Given the description of an element on the screen output the (x, y) to click on. 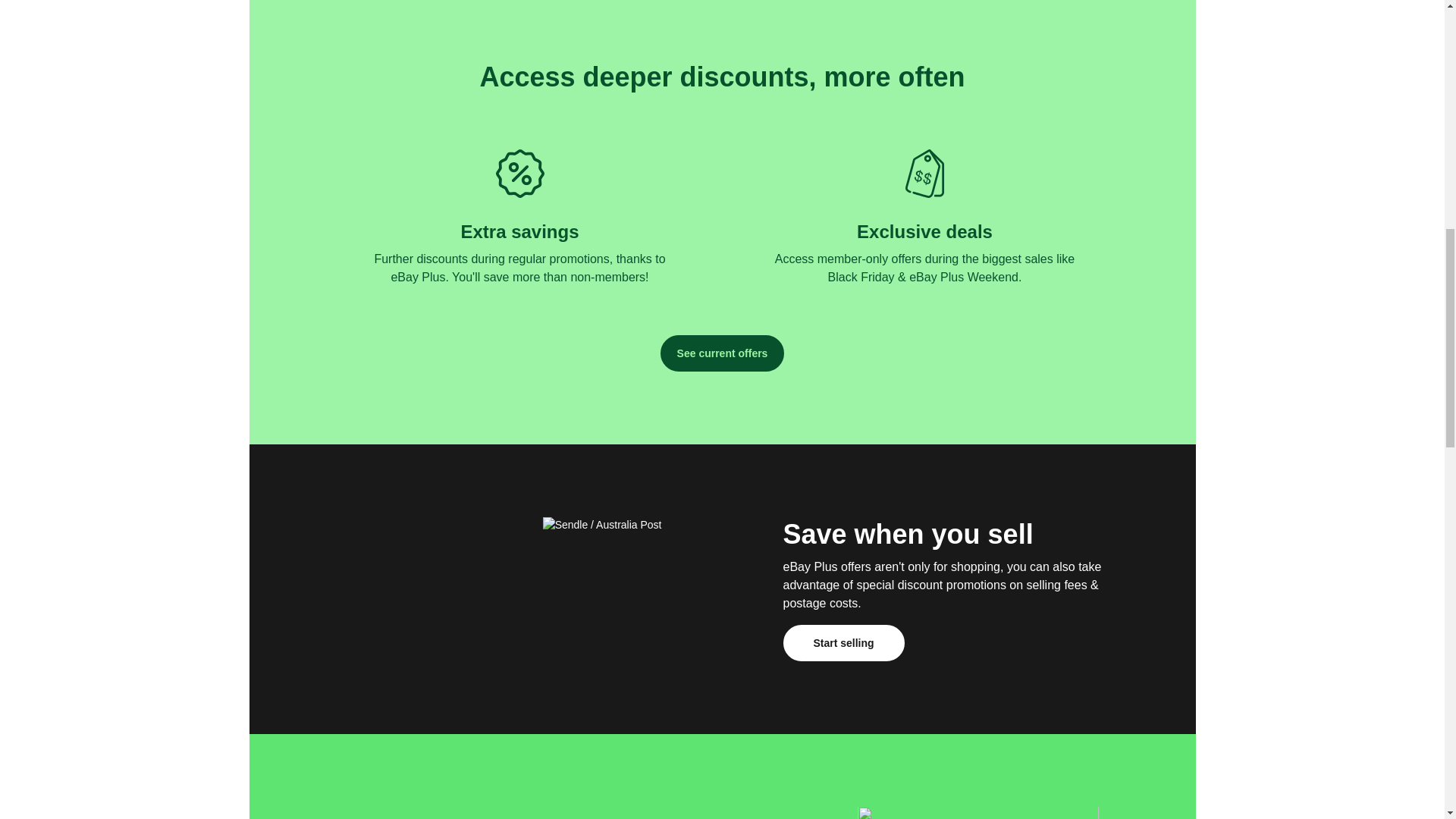
Start selling (843, 642)
See current offers (722, 352)
See current offers (722, 352)
Start selling (843, 642)
